Given the description of an element on the screen output the (x, y) to click on. 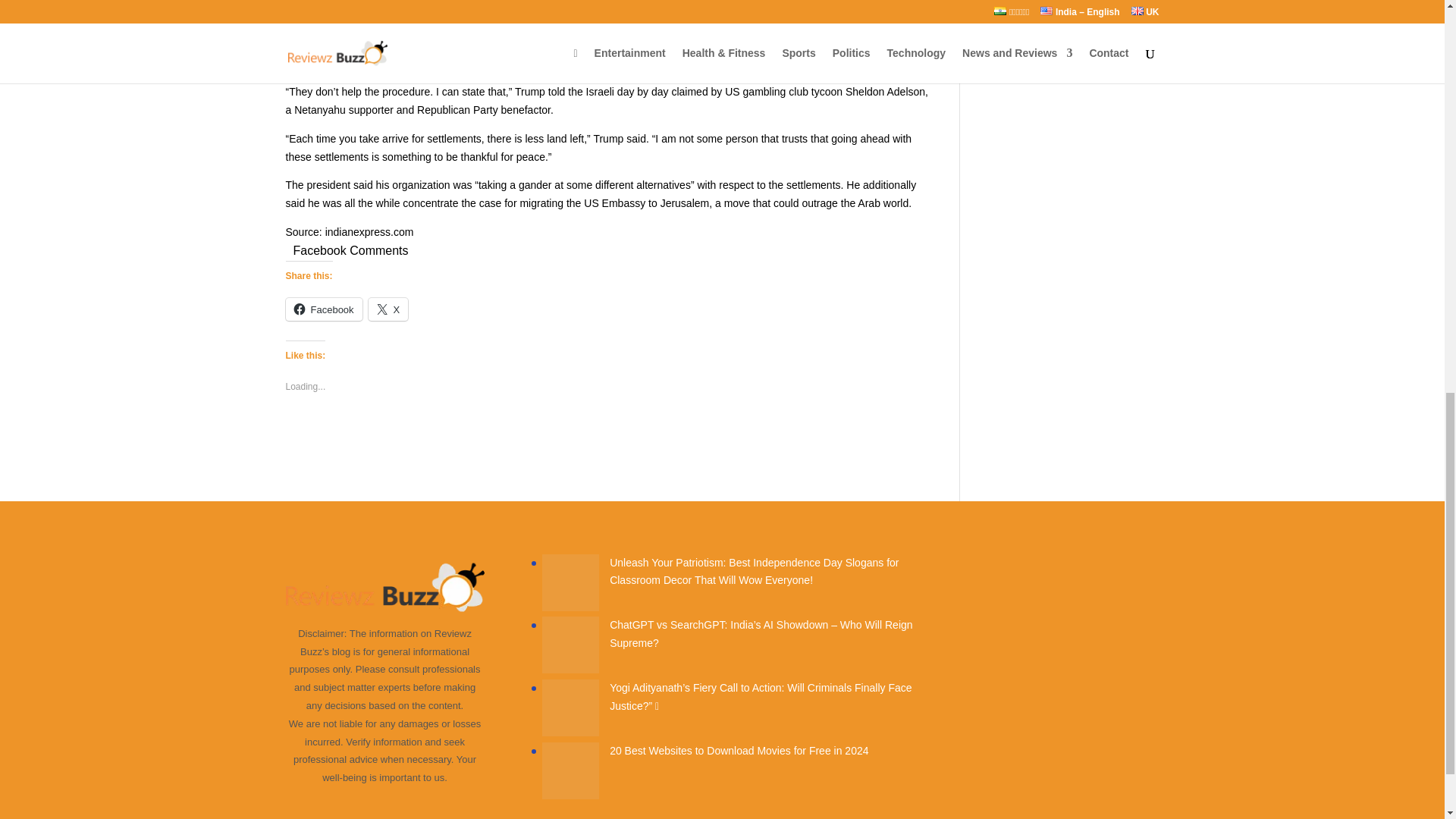
Click to share on X (388, 309)
X (388, 309)
Facebook (323, 309)
Click to share on Facebook (323, 309)
